Given the description of an element on the screen output the (x, y) to click on. 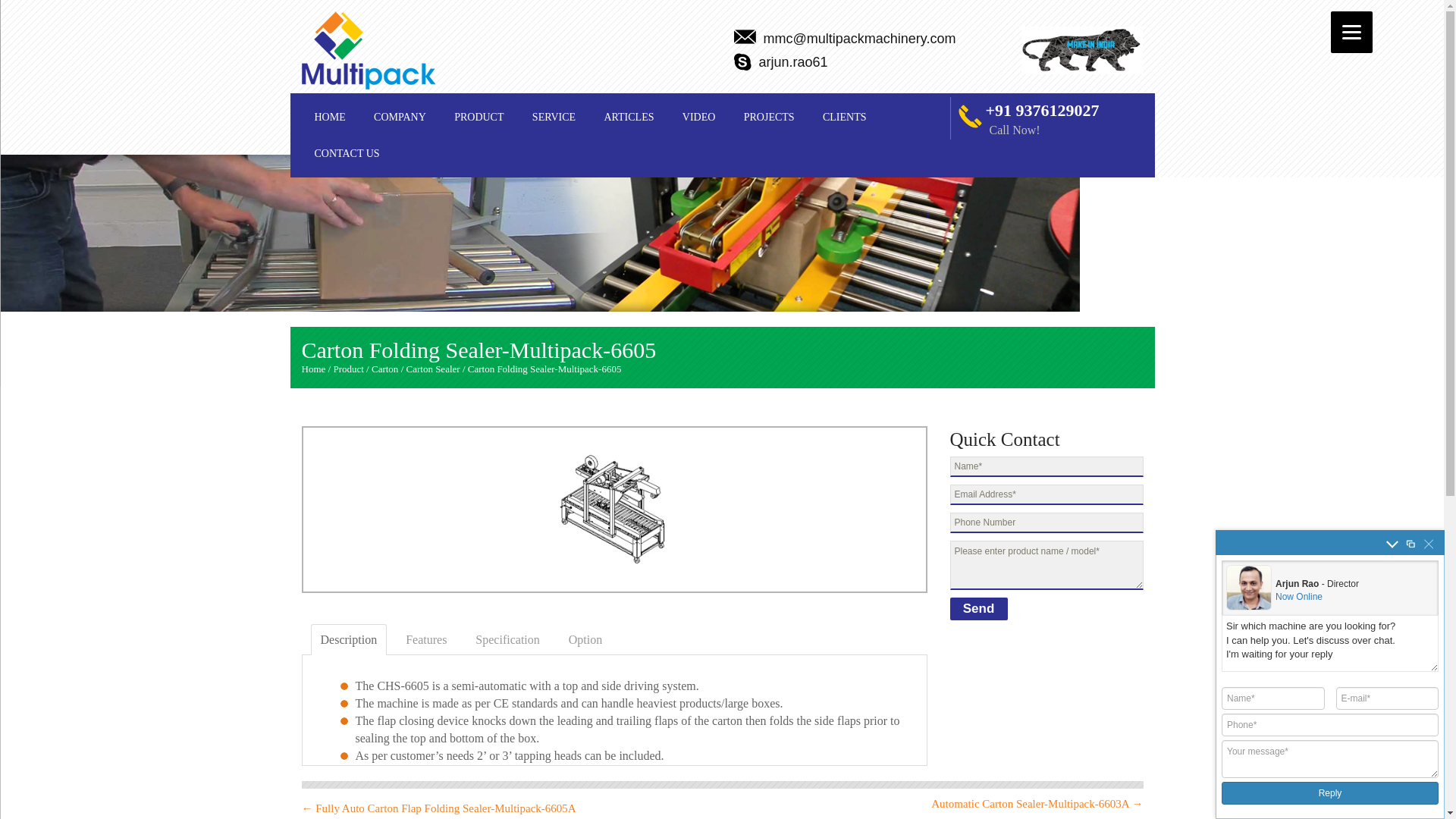
Send (978, 608)
Carton Sealer (433, 368)
COMPANY (400, 116)
Open in a new window (1409, 543)
Carton (384, 368)
arjun.rao61 (792, 62)
ARTICLES (628, 116)
Send (978, 608)
Go to Multipack. (313, 368)
Go to the Carton Sealer category archives. (433, 368)
Close (1428, 543)
Go to the Product category archives. (347, 368)
Go to the Carton category archives. (384, 368)
